Given the description of an element on the screen output the (x, y) to click on. 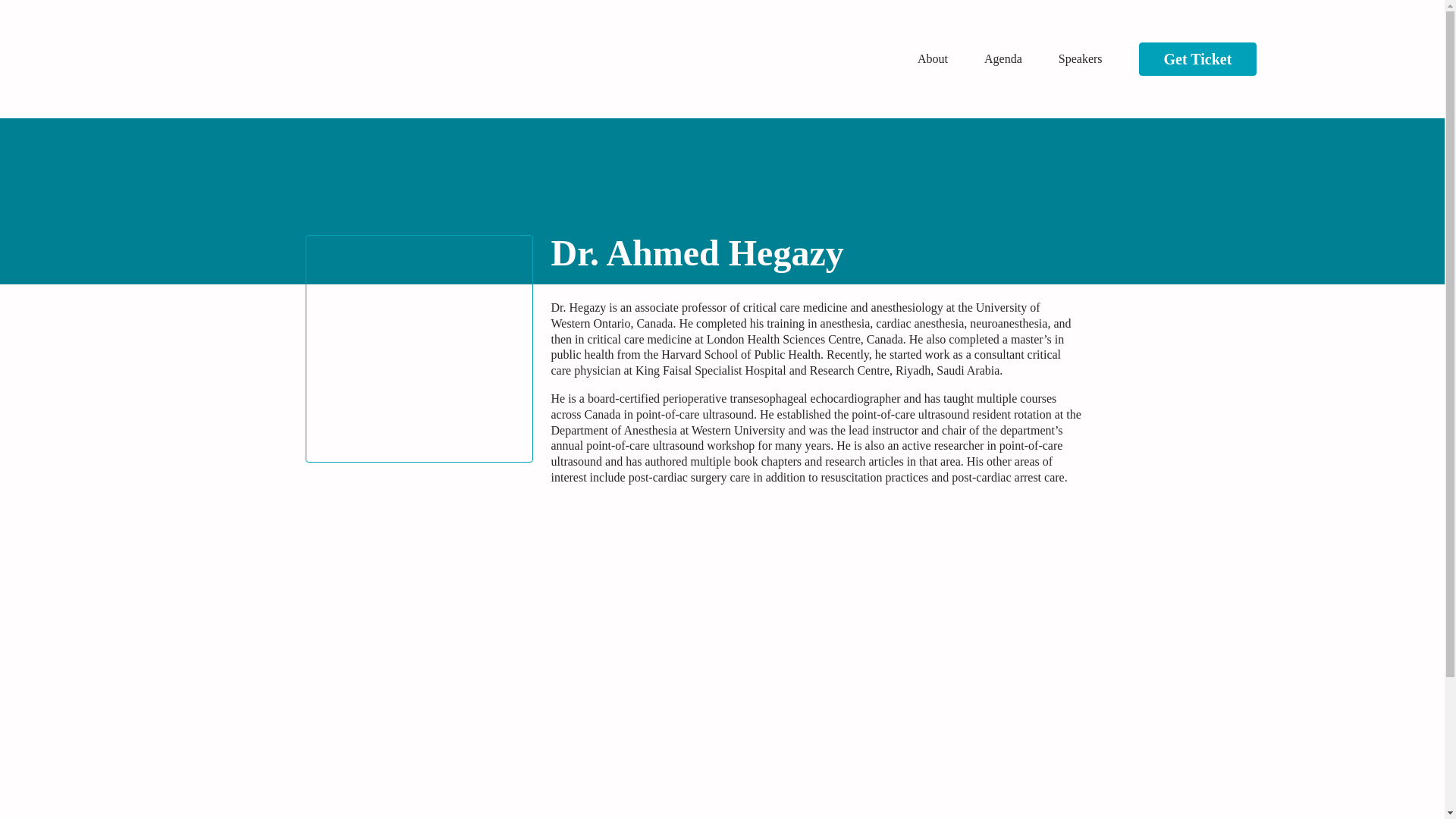
Speakers (1080, 58)
About (932, 58)
Get Ticket (1197, 59)
Agenda (1003, 58)
